Given the description of an element on the screen output the (x, y) to click on. 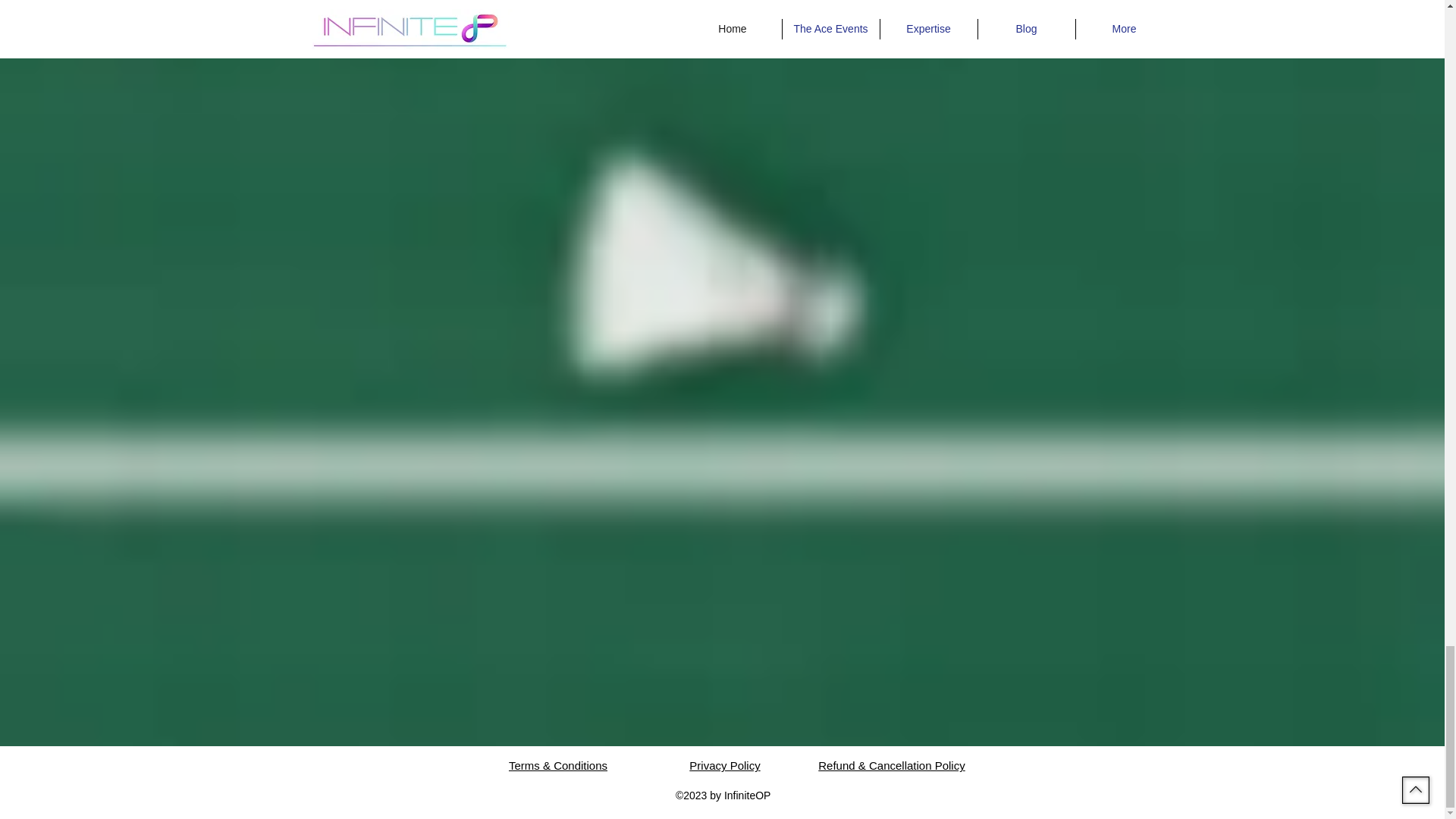
Privacy Policy (724, 765)
